Given the description of an element on the screen output the (x, y) to click on. 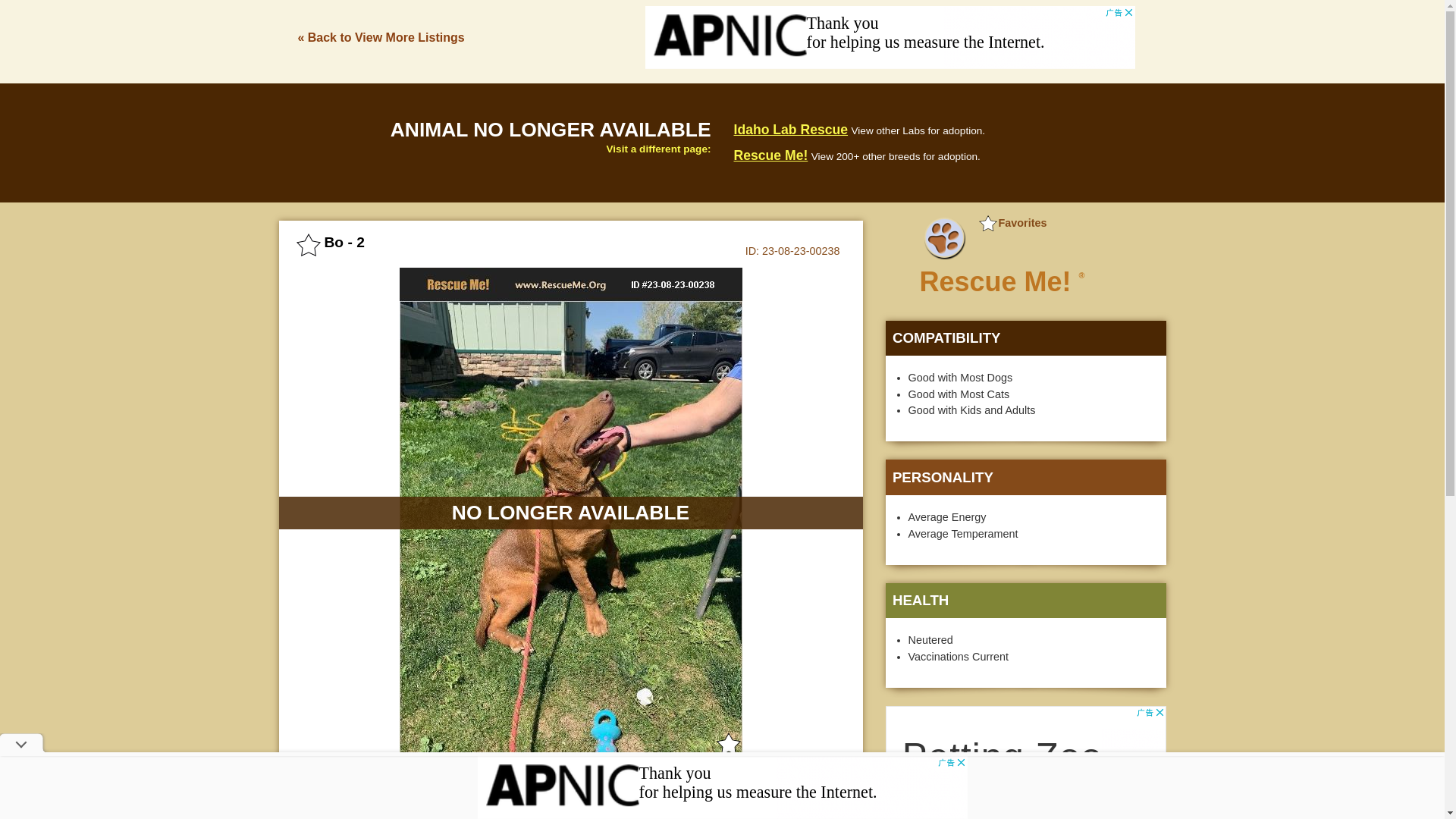
Favorites (1011, 223)
Advertisement (1025, 762)
Rescue Me! (770, 155)
Advertisement (890, 39)
Advertisement (722, 787)
Idaho Lab Rescue (790, 129)
